Given the description of an element on the screen output the (x, y) to click on. 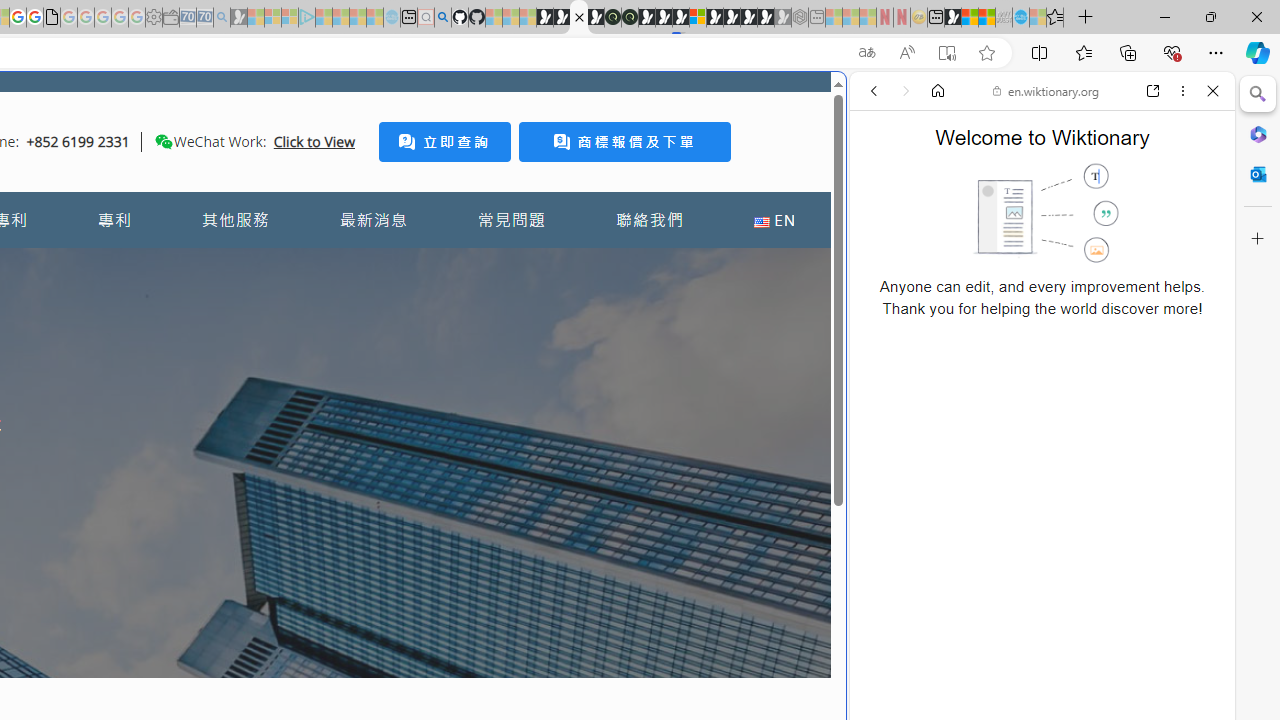
google_privacy_policy_zh-CN.pdf (51, 17)
Search the web (1051, 137)
Home | Sky Blue Bikes - Sky Blue Bikes - Sleeping (392, 17)
Frequently visited (418, 265)
github - Search (442, 17)
